Given the description of an element on the screen output the (x, y) to click on. 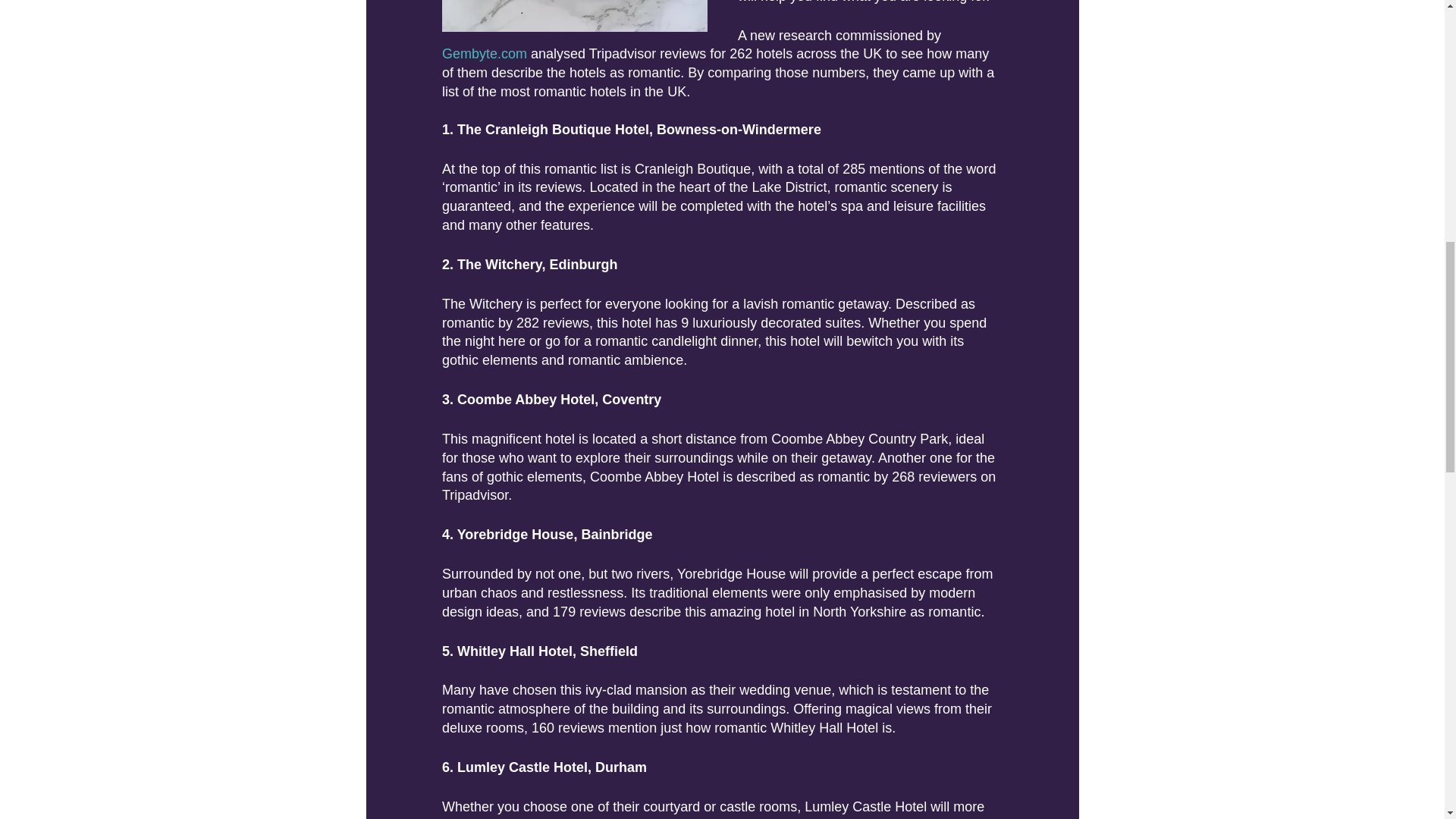
Gembyte.com (483, 53)
